Given the description of an element on the screen output the (x, y) to click on. 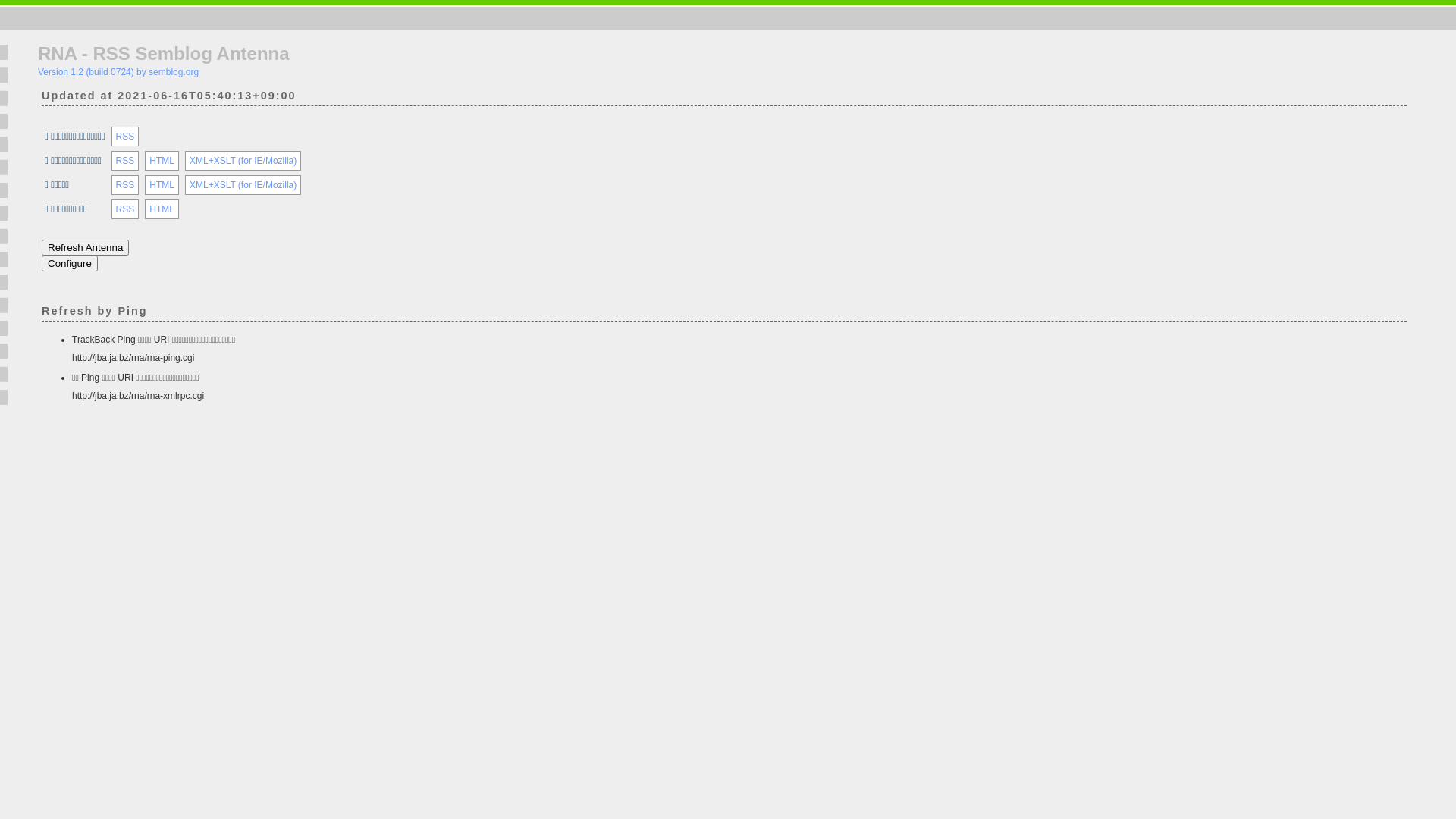
RSS Element type: text (125, 184)
XML+XSLT (for IE/Mozilla) Element type: text (242, 160)
XML+XSLT (for IE/Mozilla) Element type: text (242, 184)
HTML Element type: text (161, 184)
RSS Element type: text (125, 208)
HTML Element type: text (161, 160)
Refresh Antenna Element type: text (84, 247)
RSS Element type: text (125, 160)
HTML Element type: text (161, 208)
Configure Element type: text (69, 263)
RSS Element type: text (125, 136)
